Given the description of an element on the screen output the (x, y) to click on. 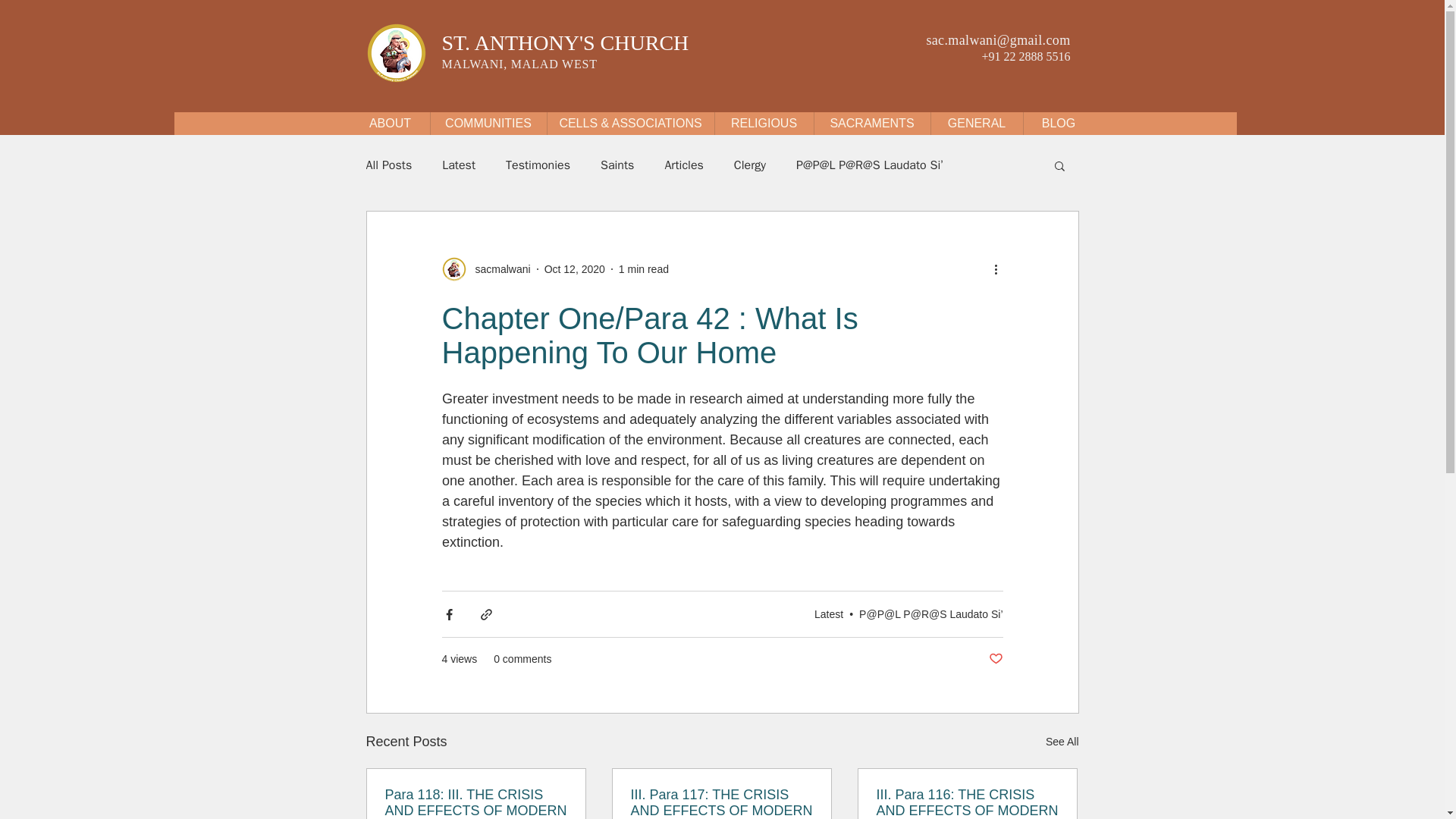
sacmalwani (497, 268)
Oct 12, 2020 (574, 268)
1 min read (643, 268)
ST. ANTHONY'S CHURCH (564, 42)
